Given the description of an element on the screen output the (x, y) to click on. 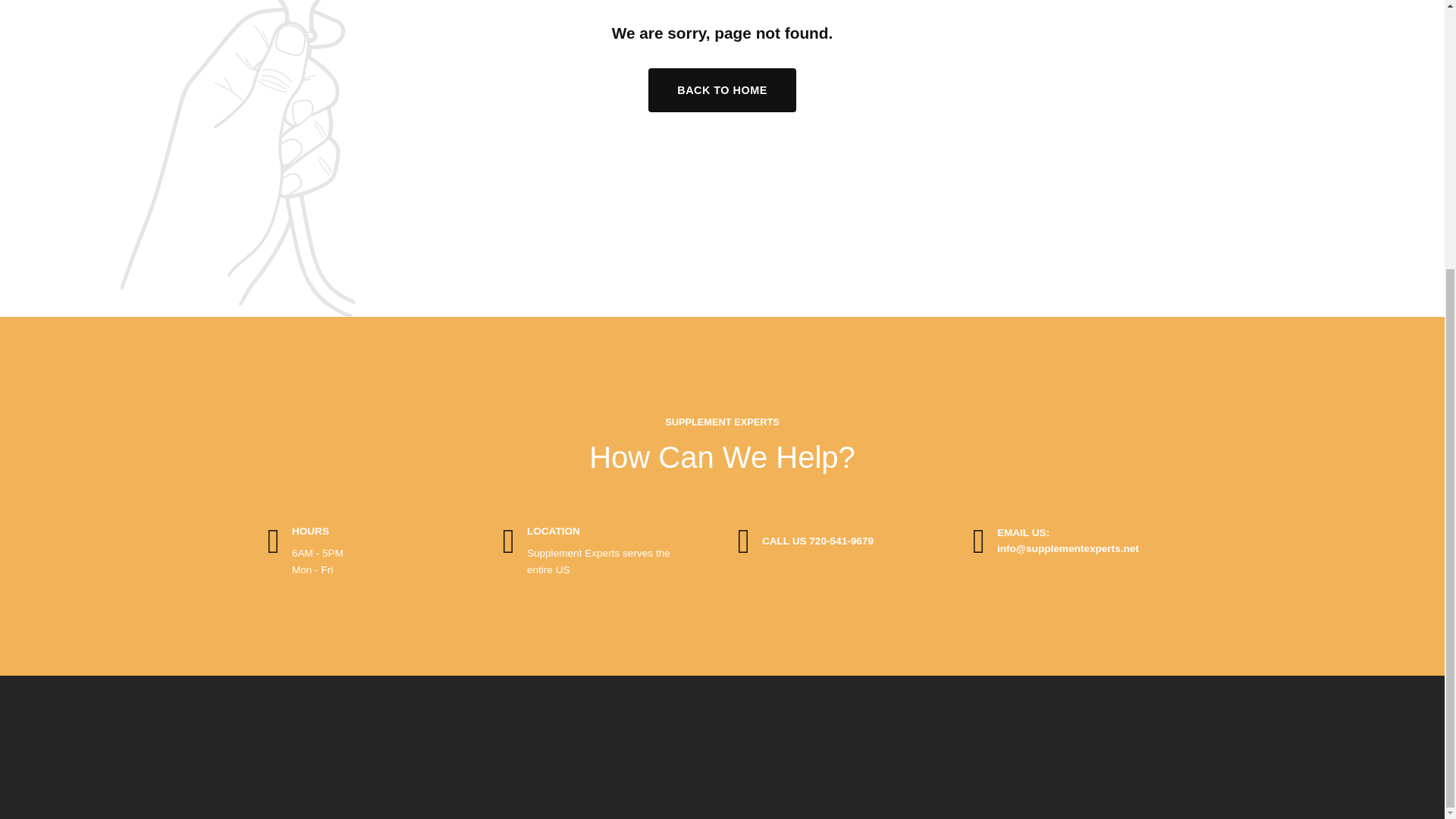
CALL US 720-541-9679 (817, 541)
BACK TO HOME (721, 89)
BACK TO HOME (721, 89)
